Given the description of an element on the screen output the (x, y) to click on. 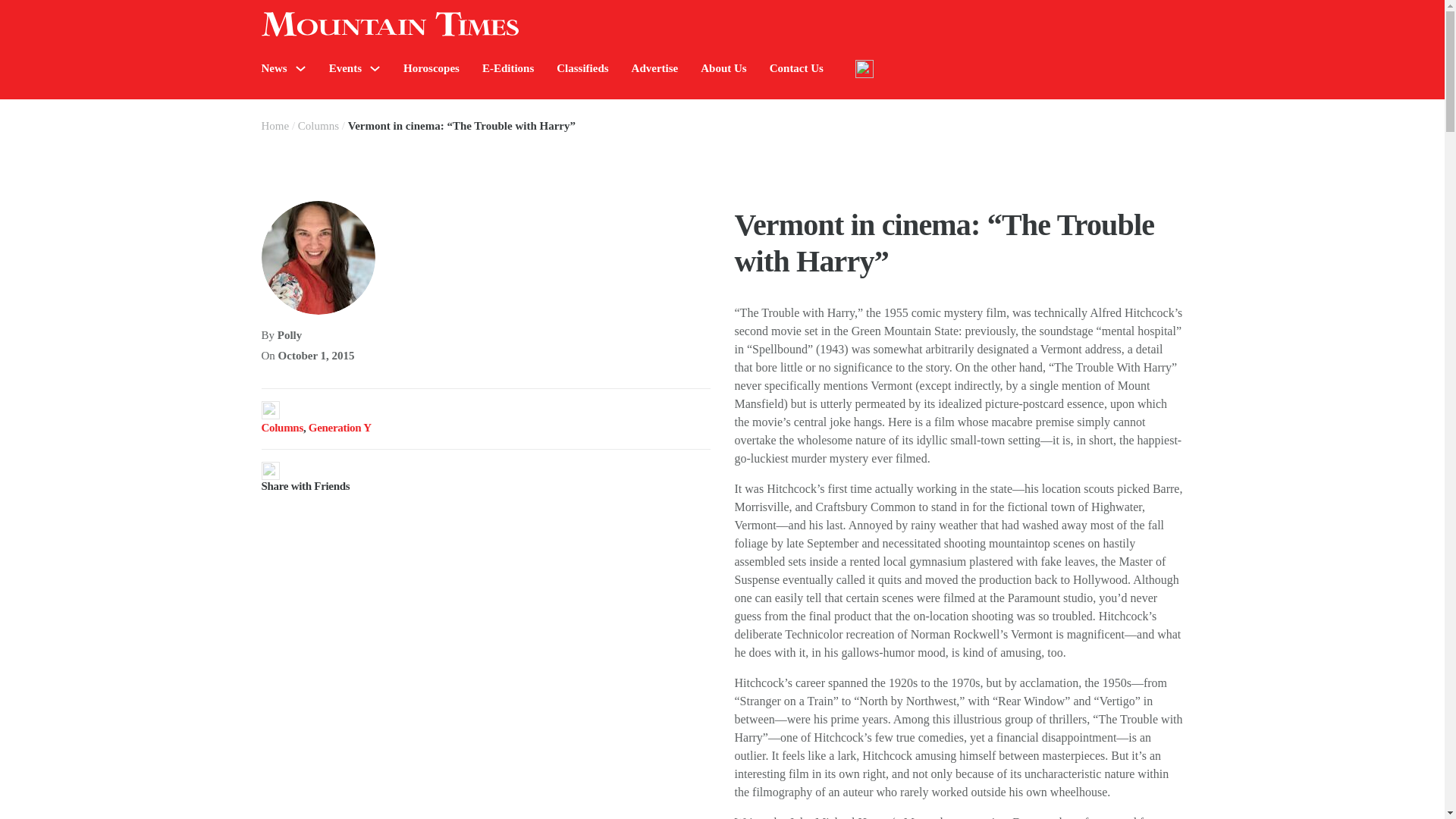
Columns (318, 125)
Generation Y (339, 427)
Share with Friends (485, 476)
Advertise (654, 67)
Classifieds (582, 67)
About Us (722, 67)
Events (345, 67)
Columns (281, 427)
Search (1274, 114)
Horoscopes (431, 67)
